Given the description of an element on the screen output the (x, y) to click on. 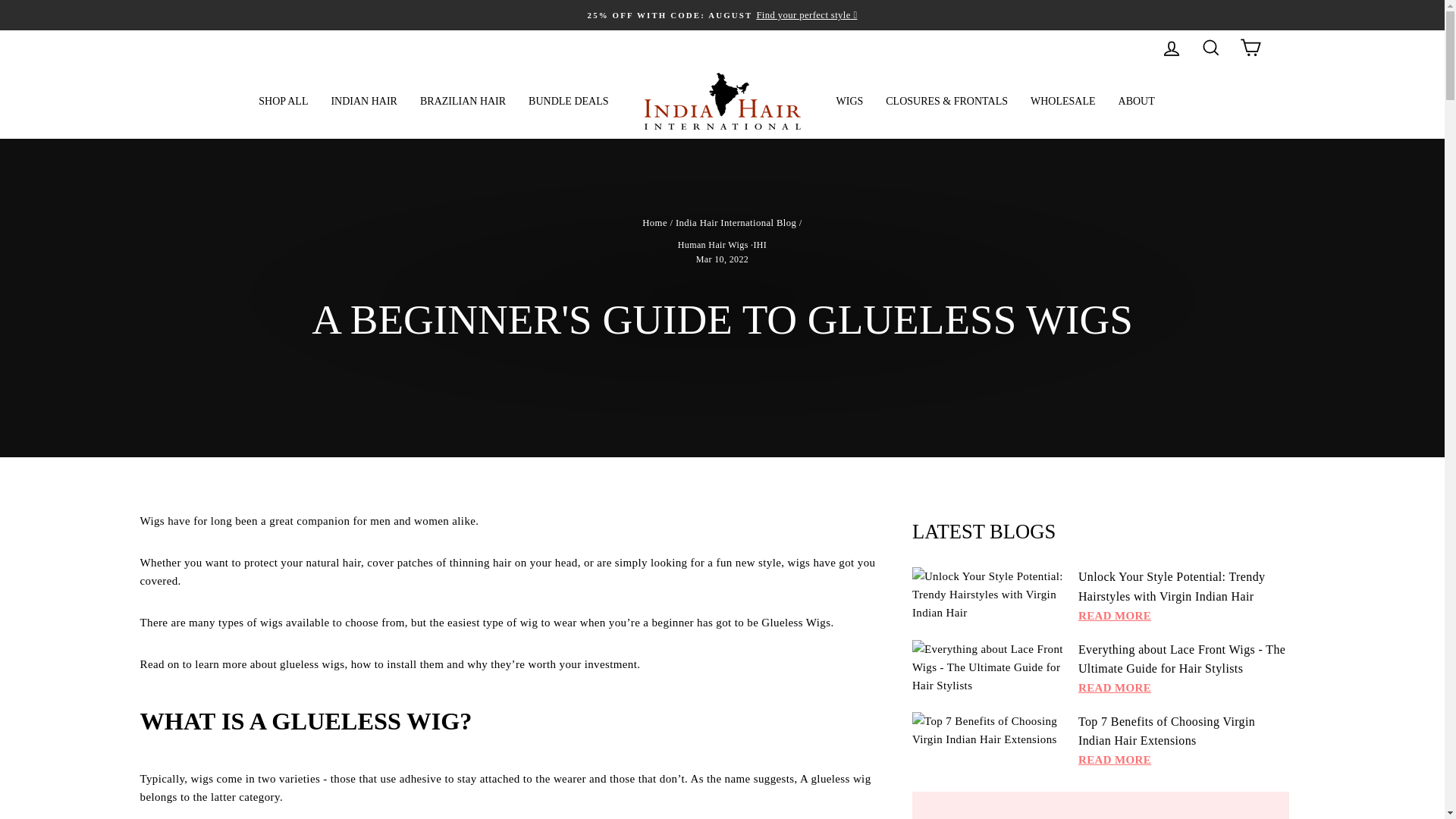
Back to the frontpage (654, 222)
read more (1114, 760)
read more (1114, 615)
Top 7 Benefits of Choosing Virgin Indian Hair Extensions (987, 729)
read more (1114, 687)
